Given the description of an element on the screen output the (x, y) to click on. 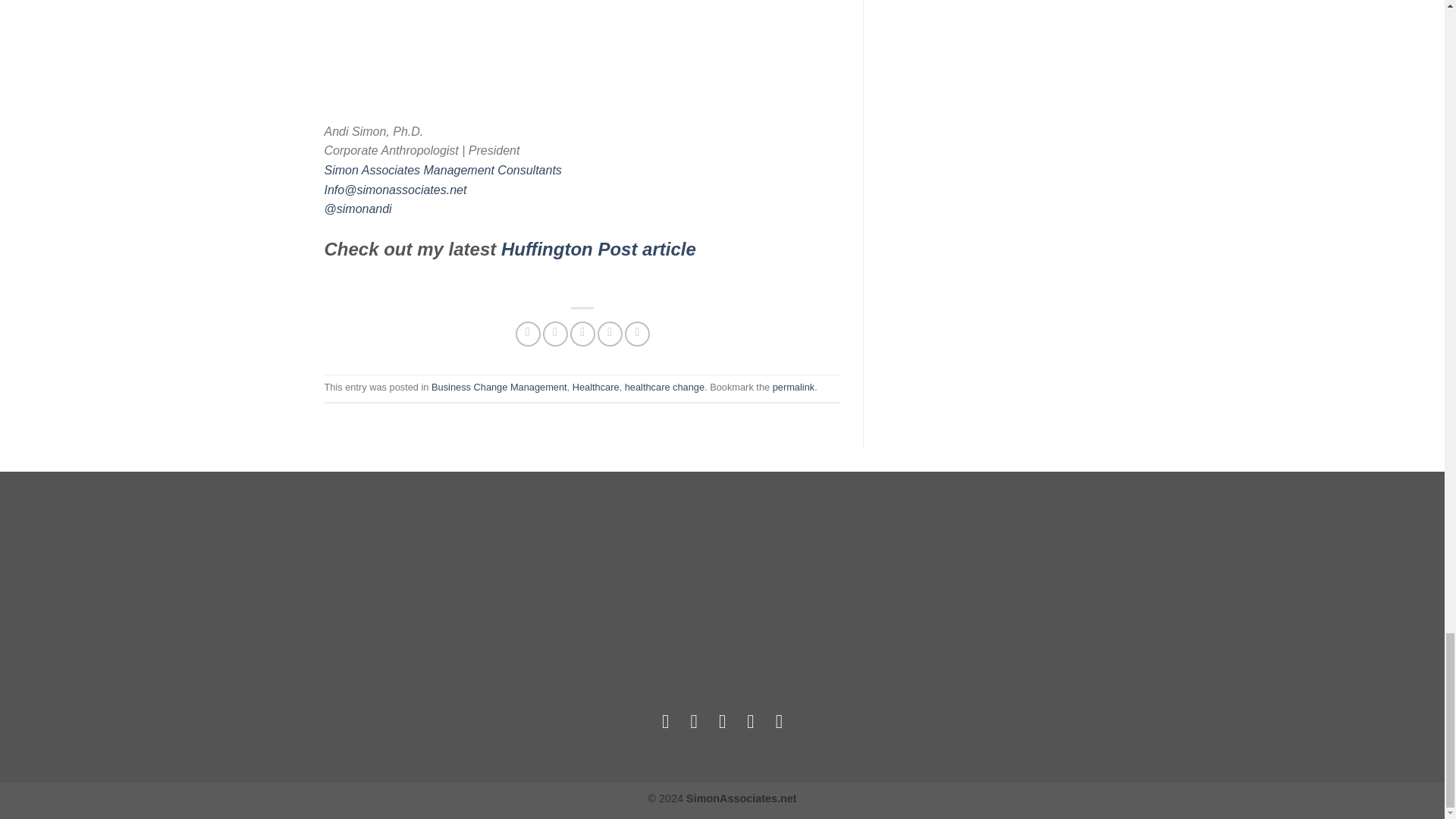
Share on LinkedIn (636, 333)
Email to a Friend (582, 333)
Share on Facebook (527, 333)
Share on Twitter (555, 333)
Pin on Pinterest (609, 333)
